Given the description of an element on the screen output the (x, y) to click on. 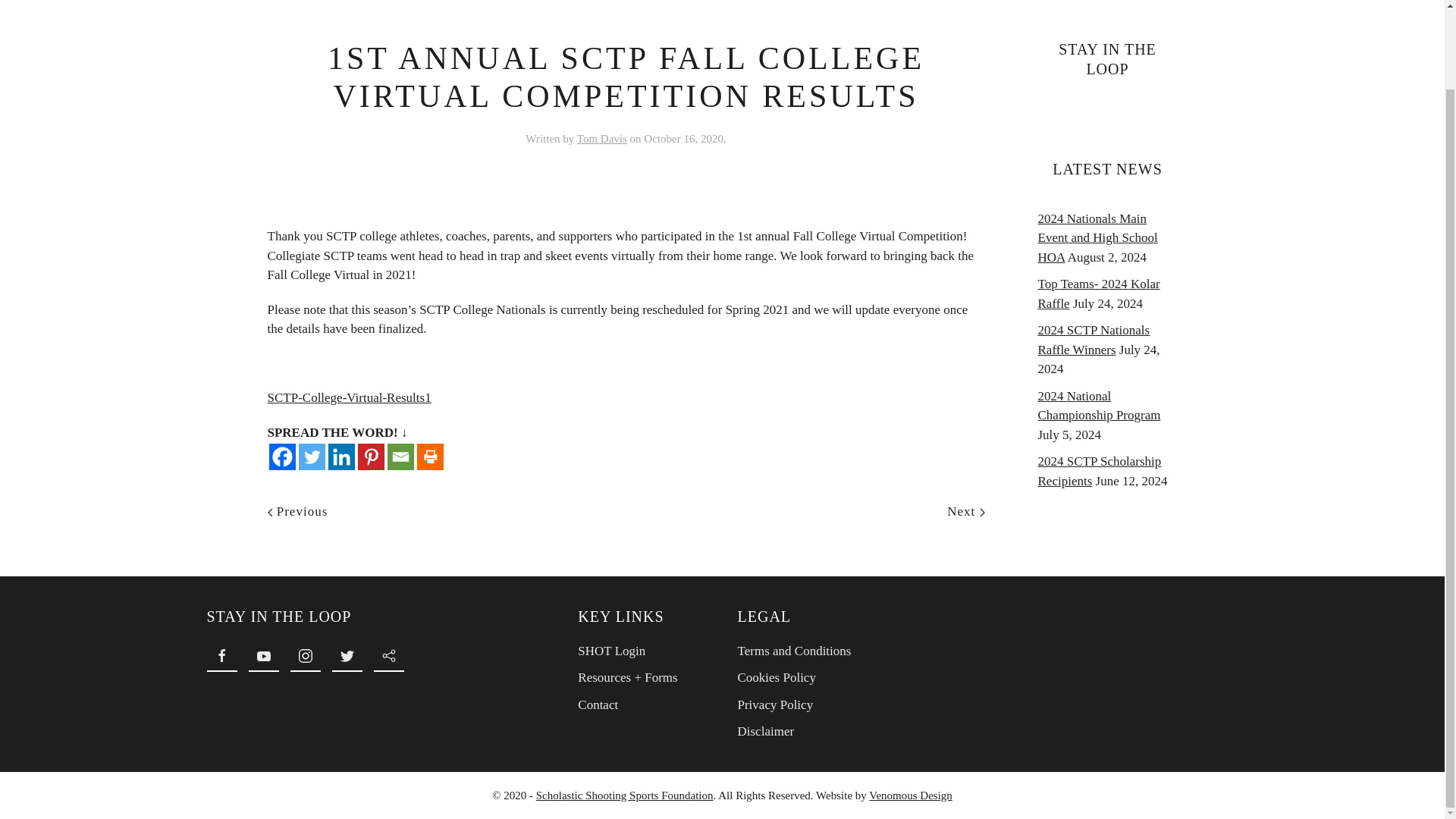
Twitter (311, 456)
Facebook (281, 456)
Print (430, 456)
STAY IN THE LOOP (365, 616)
Tom Davis (601, 138)
Email (400, 456)
Linkedin (340, 456)
SCTP-College-Virtual-Results1 (348, 397)
Pinterest (371, 456)
